Given the description of an element on the screen output the (x, y) to click on. 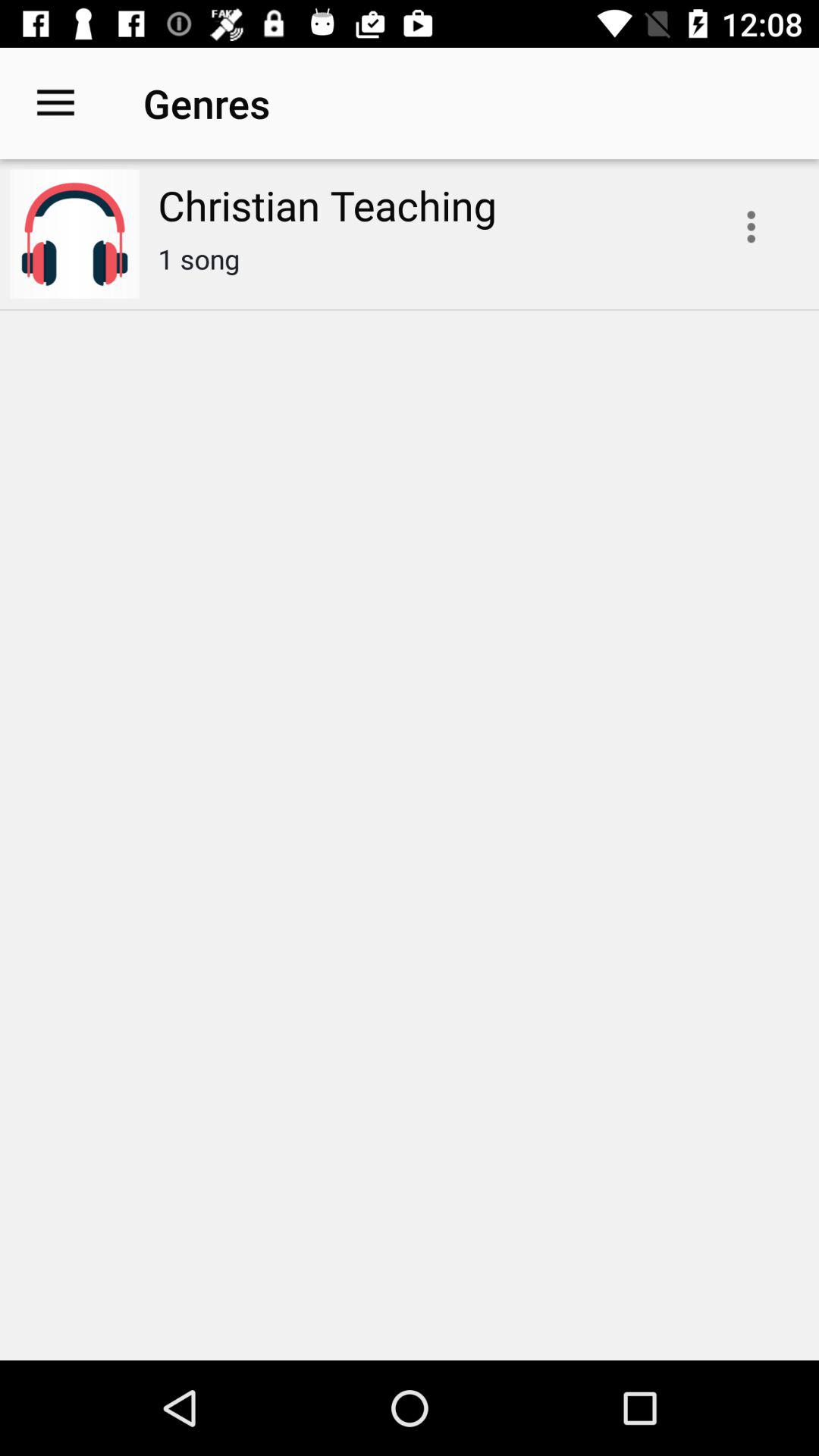
launch the icon to the right of christian teaching (750, 226)
